Given the description of an element on the screen output the (x, y) to click on. 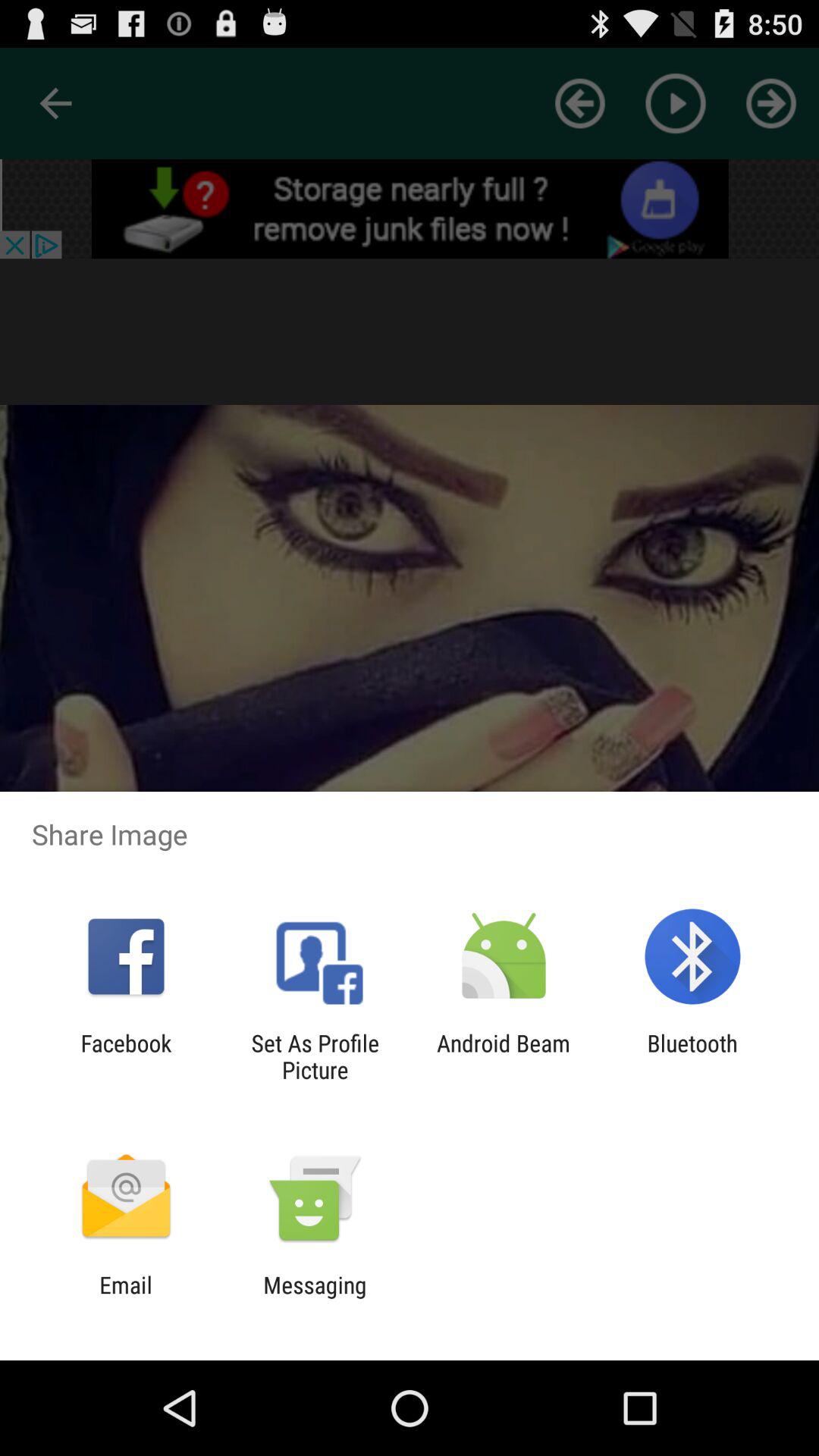
open facebook (125, 1056)
